Given the description of an element on the screen output the (x, y) to click on. 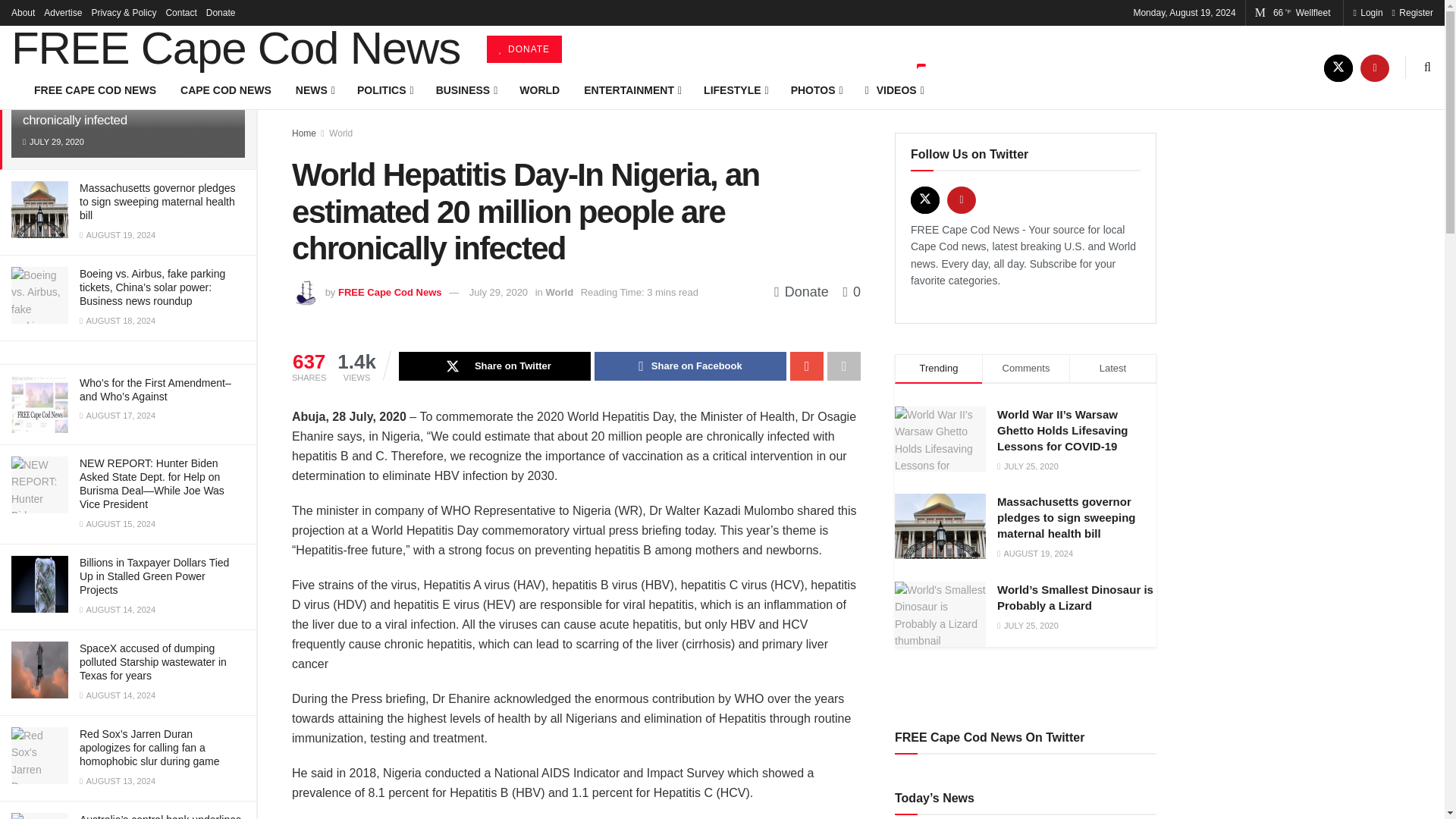
Register (1411, 12)
Donate (220, 12)
FREE Cape Cod News (235, 48)
DONATE (524, 49)
About (22, 12)
Contact (180, 12)
